Given the description of an element on the screen output the (x, y) to click on. 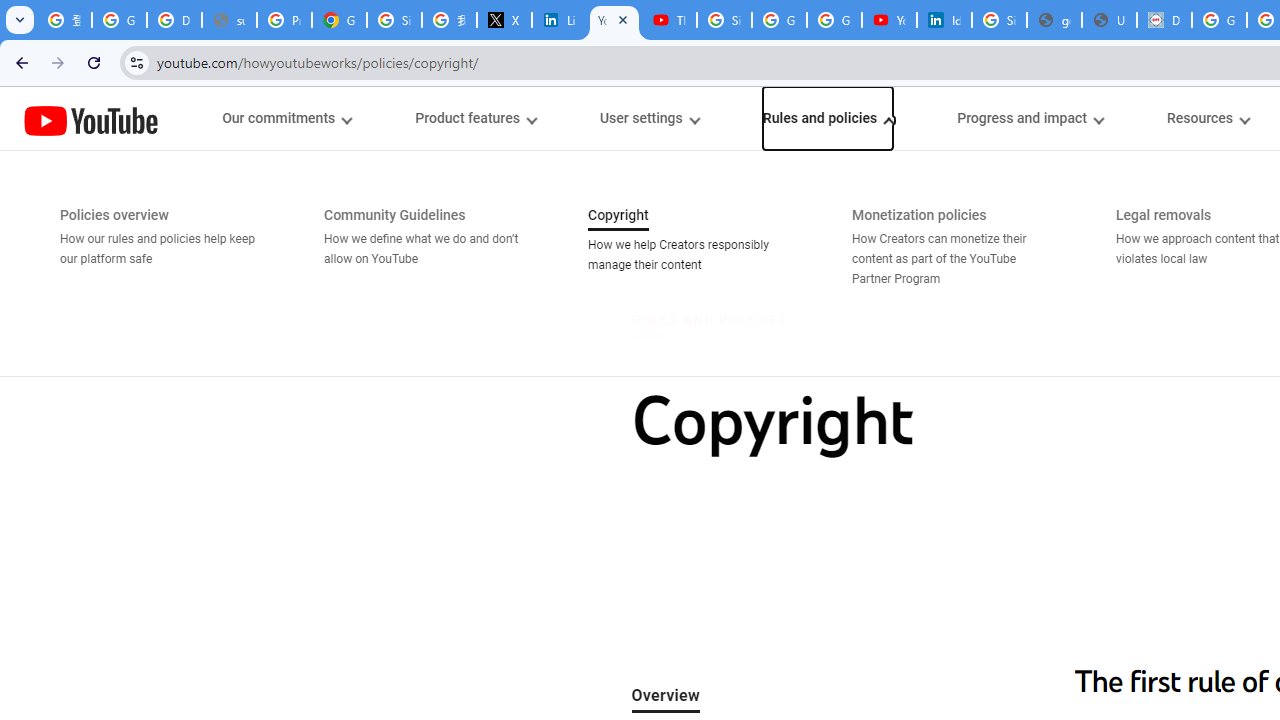
Sign in - Google Accounts (724, 20)
Product features menupopup (475, 118)
Overview (665, 696)
JUMP TO CONTENT (209, 119)
Our commitments menupopup (286, 118)
User settings menupopup (648, 118)
YouTube (91, 120)
support.google.com - Network error (229, 20)
Data Privacy Framework (1163, 20)
LinkedIn Privacy Policy (559, 20)
